Given the description of an element on the screen output the (x, y) to click on. 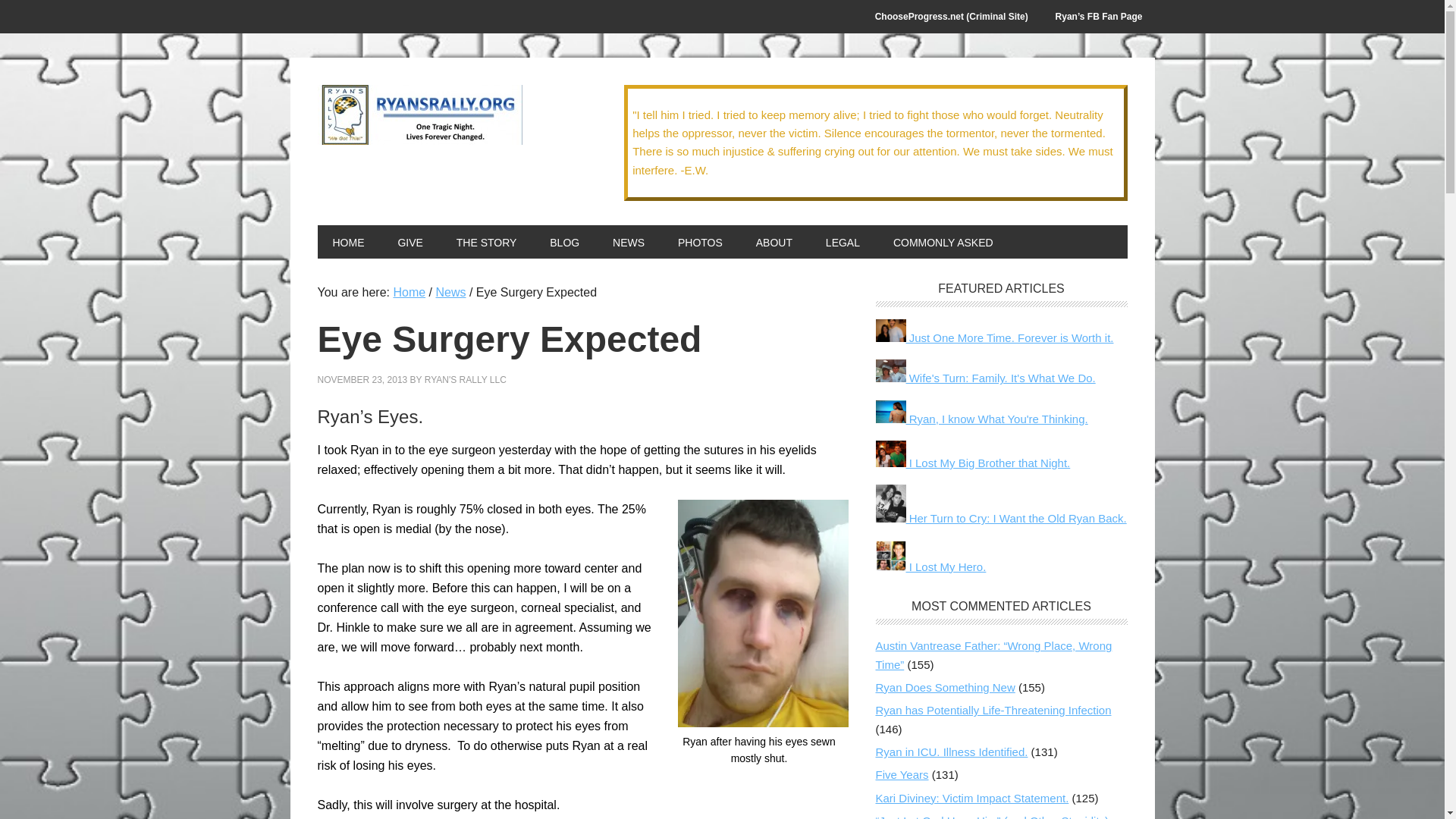
Kari Diviney: Victim Impact Statement. (971, 797)
THE STORY (486, 241)
Ryan has Potentially Life-Threatening Infection (992, 709)
LEGAL (842, 241)
Five Years (901, 774)
Ryan in ICU. Illness Identified. (951, 751)
GIVE (409, 241)
News (450, 291)
BLOG (564, 241)
PHOTOS (700, 241)
NEWS (627, 241)
ABOUT (774, 241)
WE GOT THIS! (419, 115)
COMMONLY ASKED (943, 241)
RYAN'S RALLY LLC (465, 379)
